Given the description of an element on the screen output the (x, y) to click on. 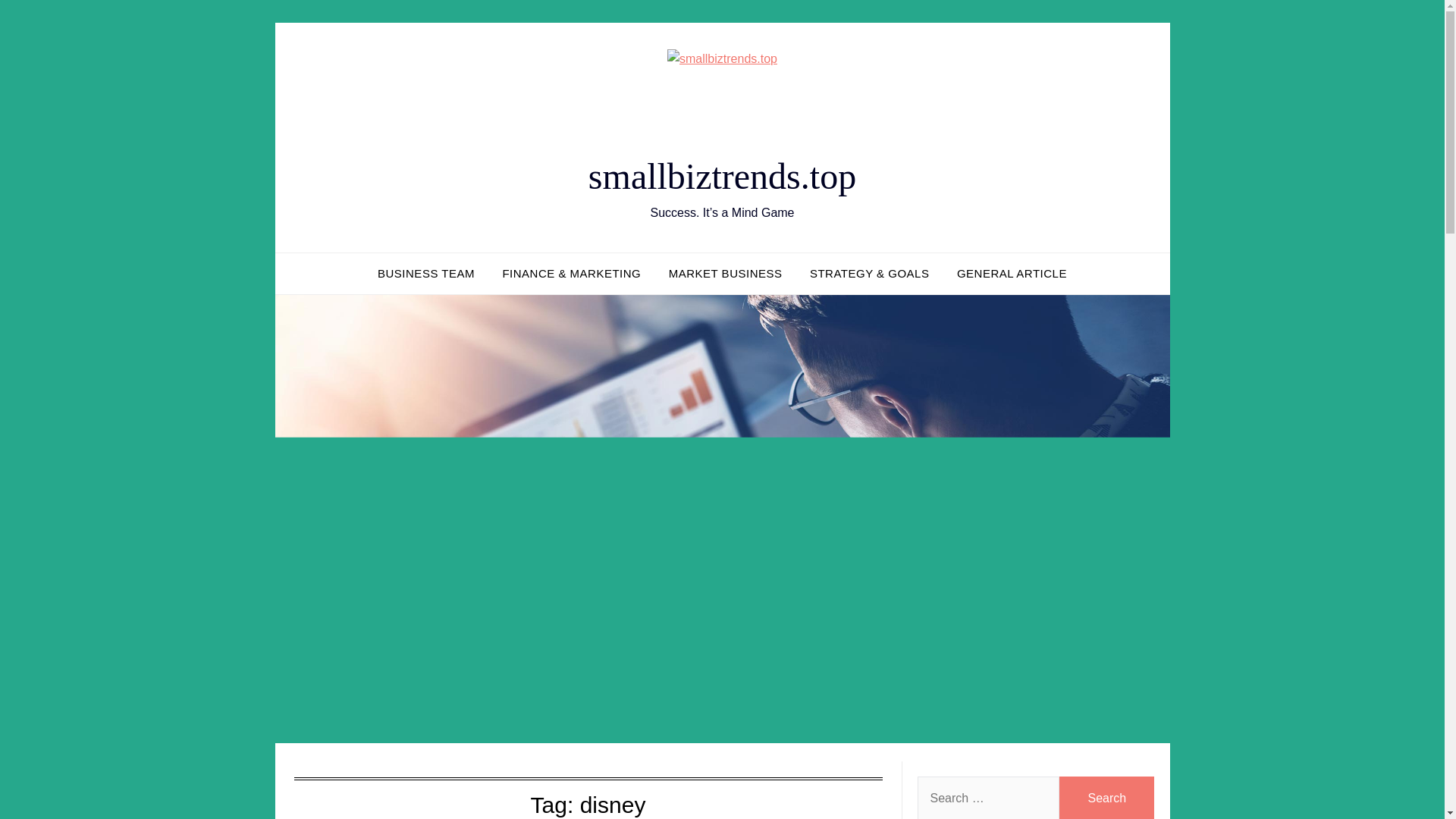
MARKET BUSINESS (725, 273)
Search (1106, 797)
smallbiztrends.top (722, 176)
Search (1106, 797)
GENERAL ARTICLE (1011, 273)
BUSINESS TEAM (425, 273)
